Given the description of an element on the screen output the (x, y) to click on. 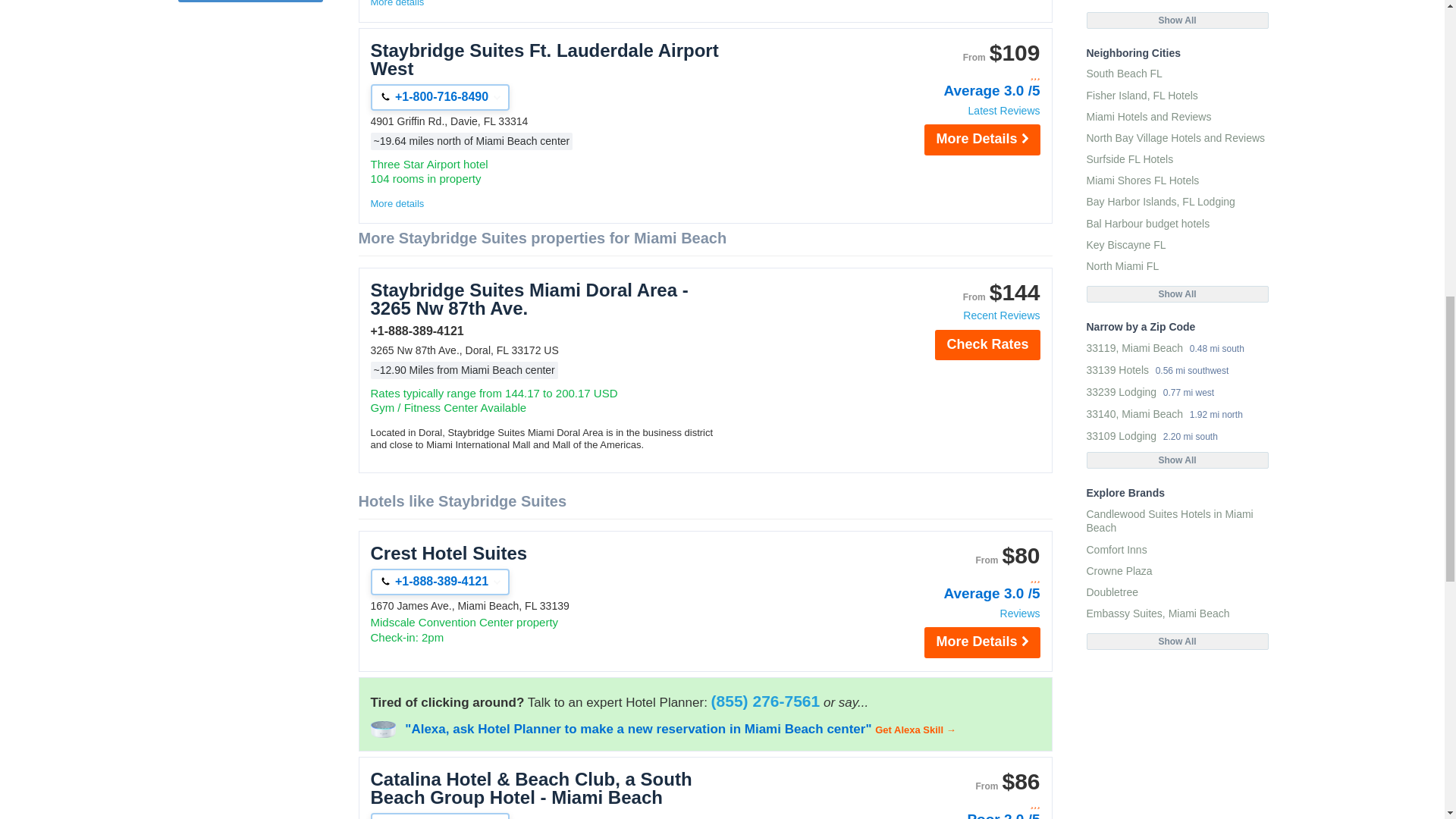
3 stars (958, 74)
3 stars (958, 803)
Set My Filter (249, 1)
3 stars (958, 577)
